Given the description of an element on the screen output the (x, y) to click on. 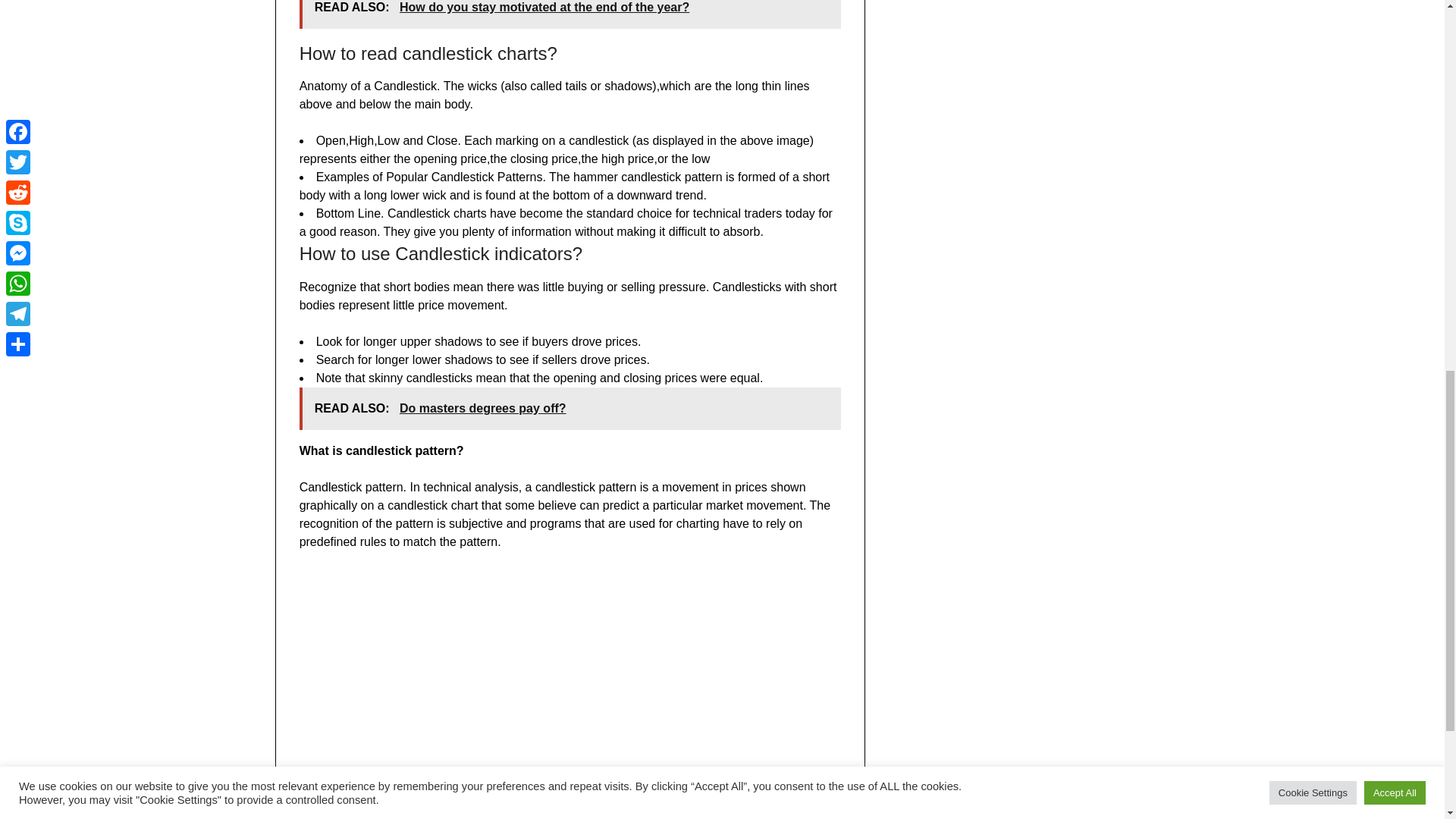
READ ALSO:   Do masters degrees pay off? (570, 408)
